Given the description of an element on the screen output the (x, y) to click on. 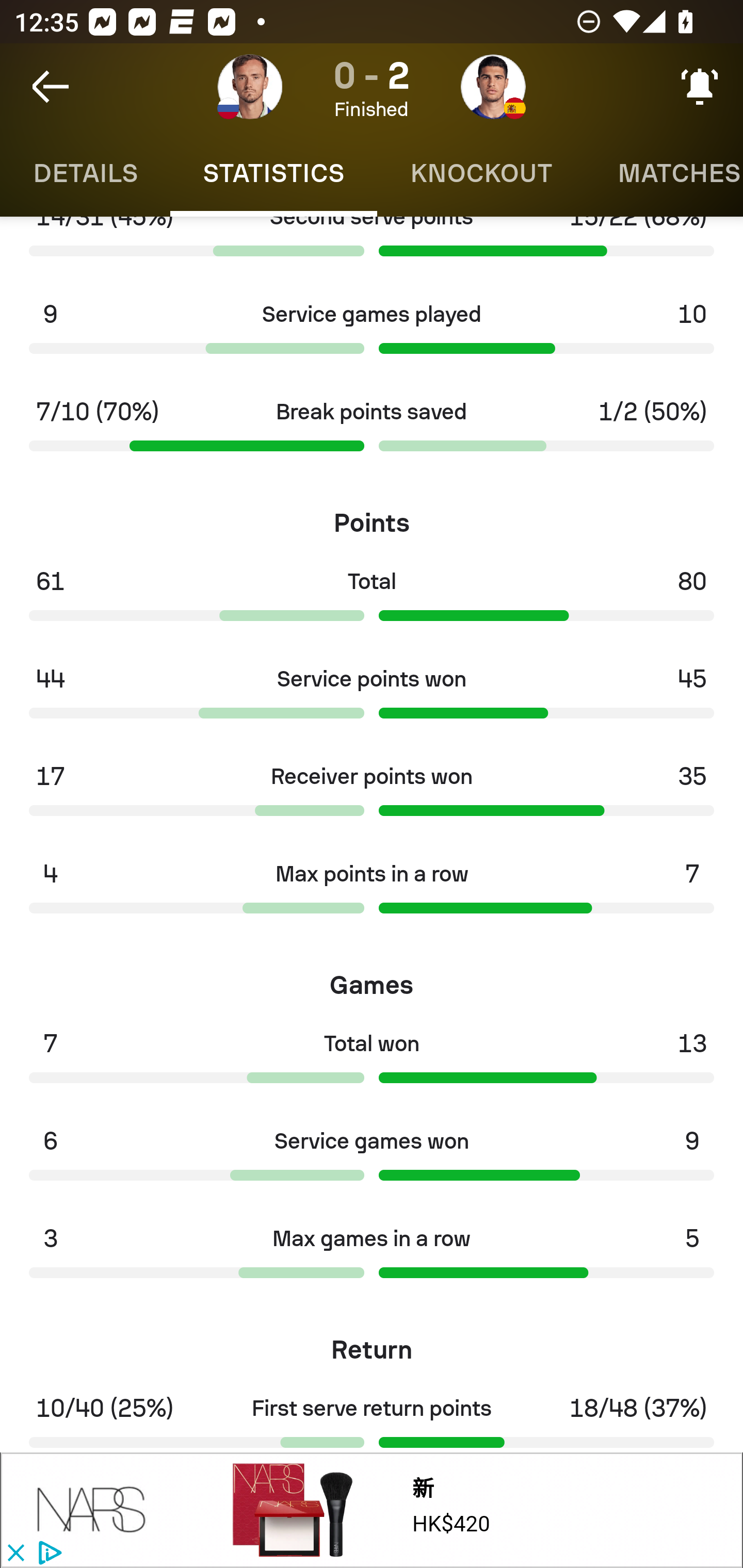
Navigate up (50, 86)
Details DETAILS (85, 173)
Knockout KNOCKOUT (480, 173)
Matches MATCHES (663, 173)
9 Service games played 10 473.0 526.0 (371, 333)
Points (371, 515)
61 Total 80 432.0 567.0 (371, 600)
44 Service points won 45 494.0 505.0 (371, 698)
17 Receiver points won 35 326.0 673.0 (371, 796)
4 Max points in a row 7 363.0 636.0 (371, 893)
Games (371, 978)
7 Total won 13 350.0 650.0 (371, 1062)
6 Service games won 9 400.0 600.0 (371, 1159)
3 Max games in a row 5 375.0 625.0 (371, 1257)
Return (371, 1343)
   (91, 1509)
close_button (14, 1553)
privacy_small (47, 1553)
